Given the description of an element on the screen output the (x, y) to click on. 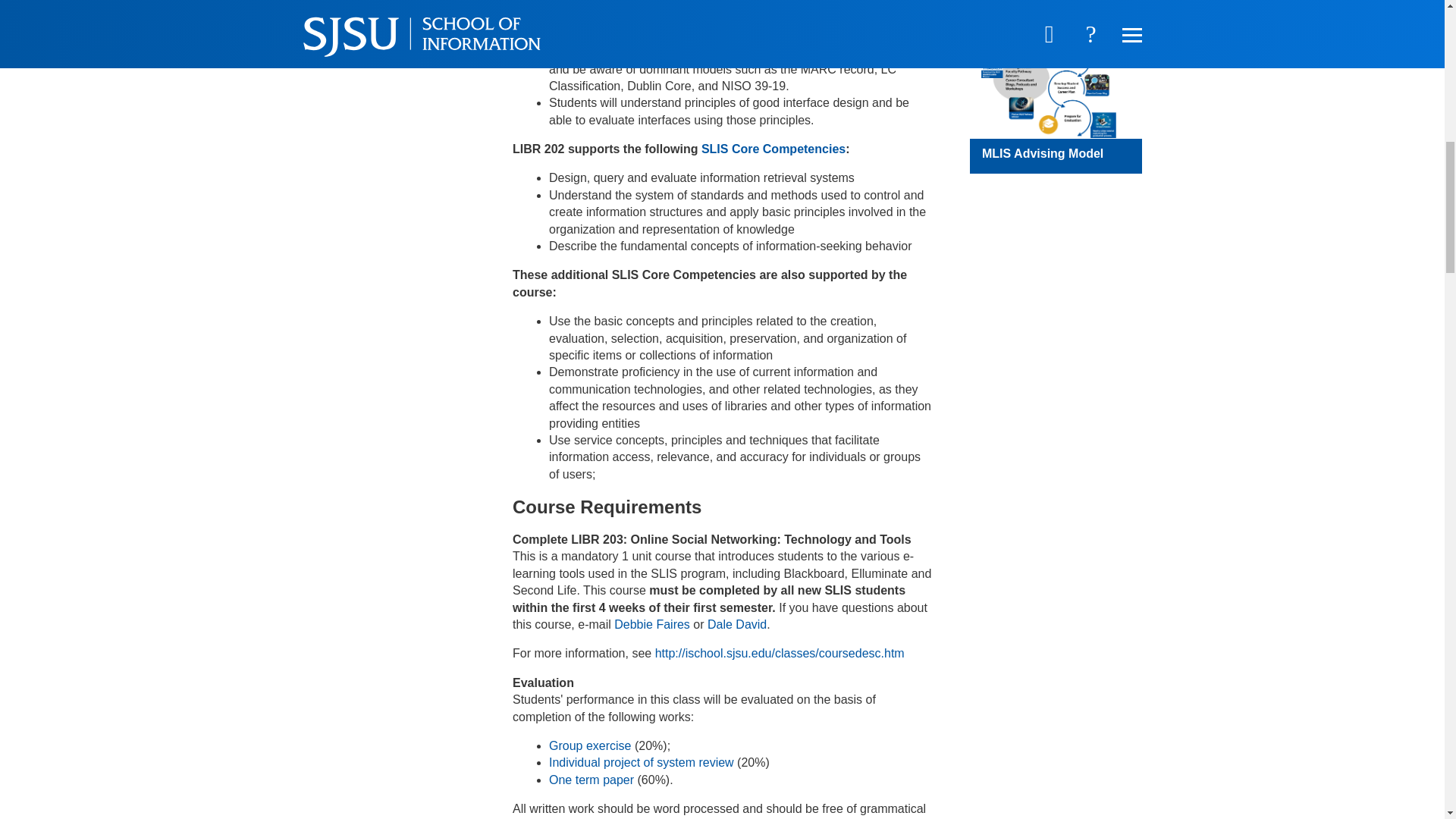
SLIS Core Competencies (773, 148)
Group exercise (589, 745)
Individual project of system review (640, 762)
Debbie Faires (652, 624)
Dale David (737, 624)
One term paper (590, 779)
